Given the description of an element on the screen output the (x, y) to click on. 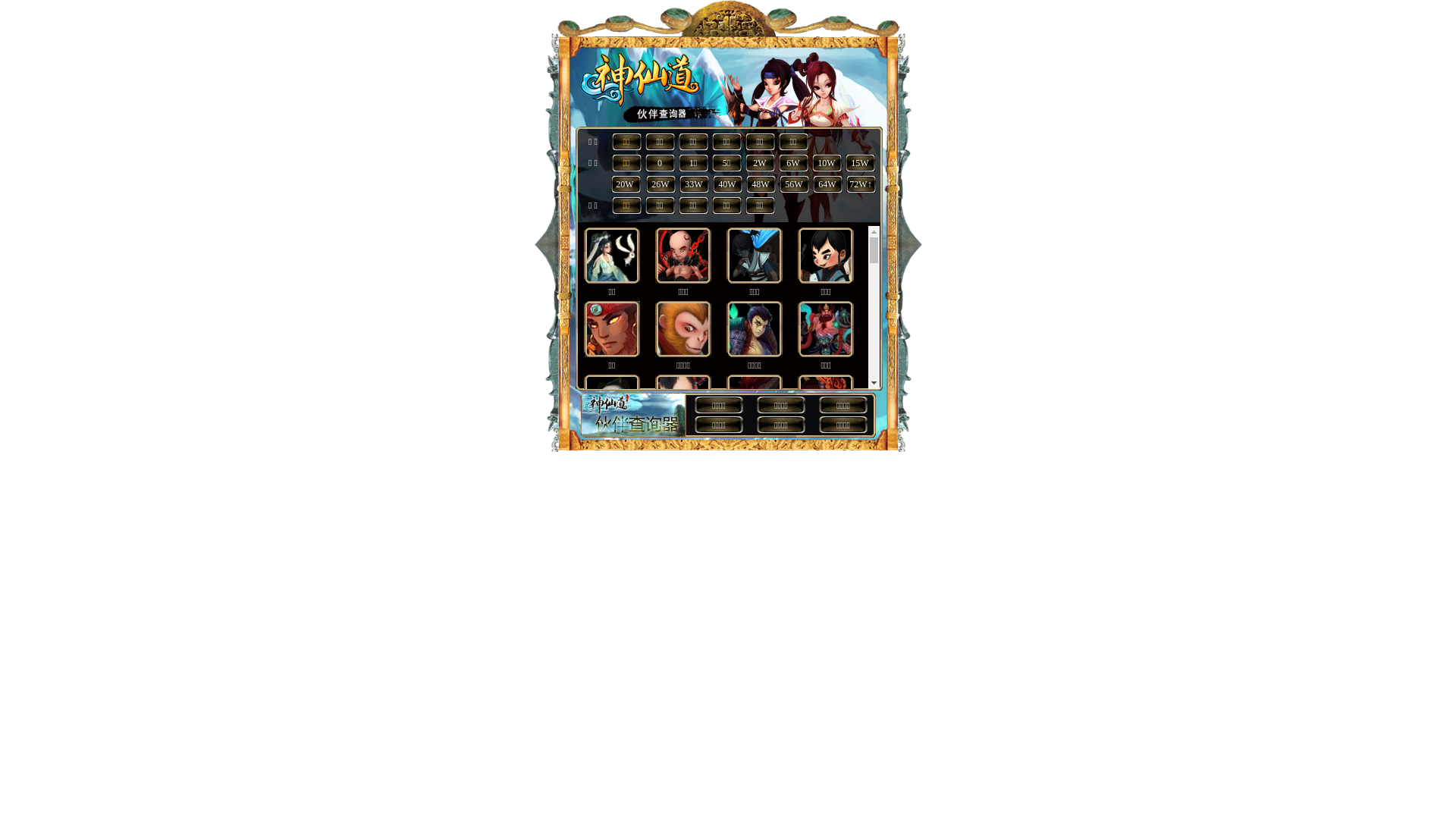
40W Element type: text (726, 183)
64W Element type: text (826, 183)
20W Element type: text (624, 183)
26W Element type: text (659, 183)
6W Element type: text (792, 162)
10W Element type: text (825, 162)
48W Element type: text (759, 183)
  0   Element type: text (659, 162)
2W Element type: text (759, 162)
56W Element type: text (793, 183)
33W Element type: text (693, 183)
15W Element type: text (859, 162)
